Given the description of an element on the screen output the (x, y) to click on. 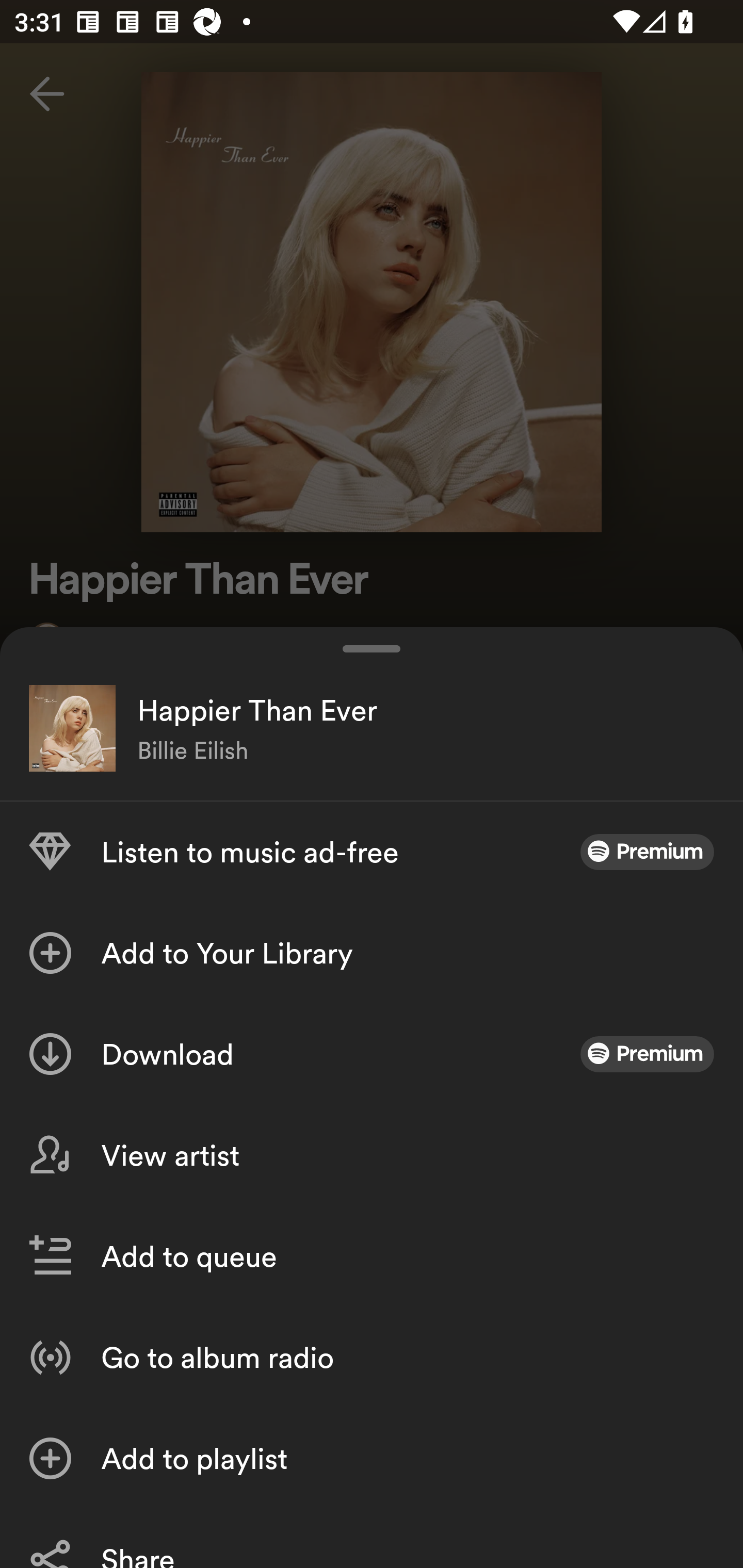
Listen to music ad-free (371, 852)
Add to Your Library (371, 953)
Download (371, 1054)
View artist (371, 1155)
Add to queue (371, 1256)
Go to album radio (371, 1357)
Add to playlist (371, 1458)
Share (371, 1538)
